Given the description of an element on the screen output the (x, y) to click on. 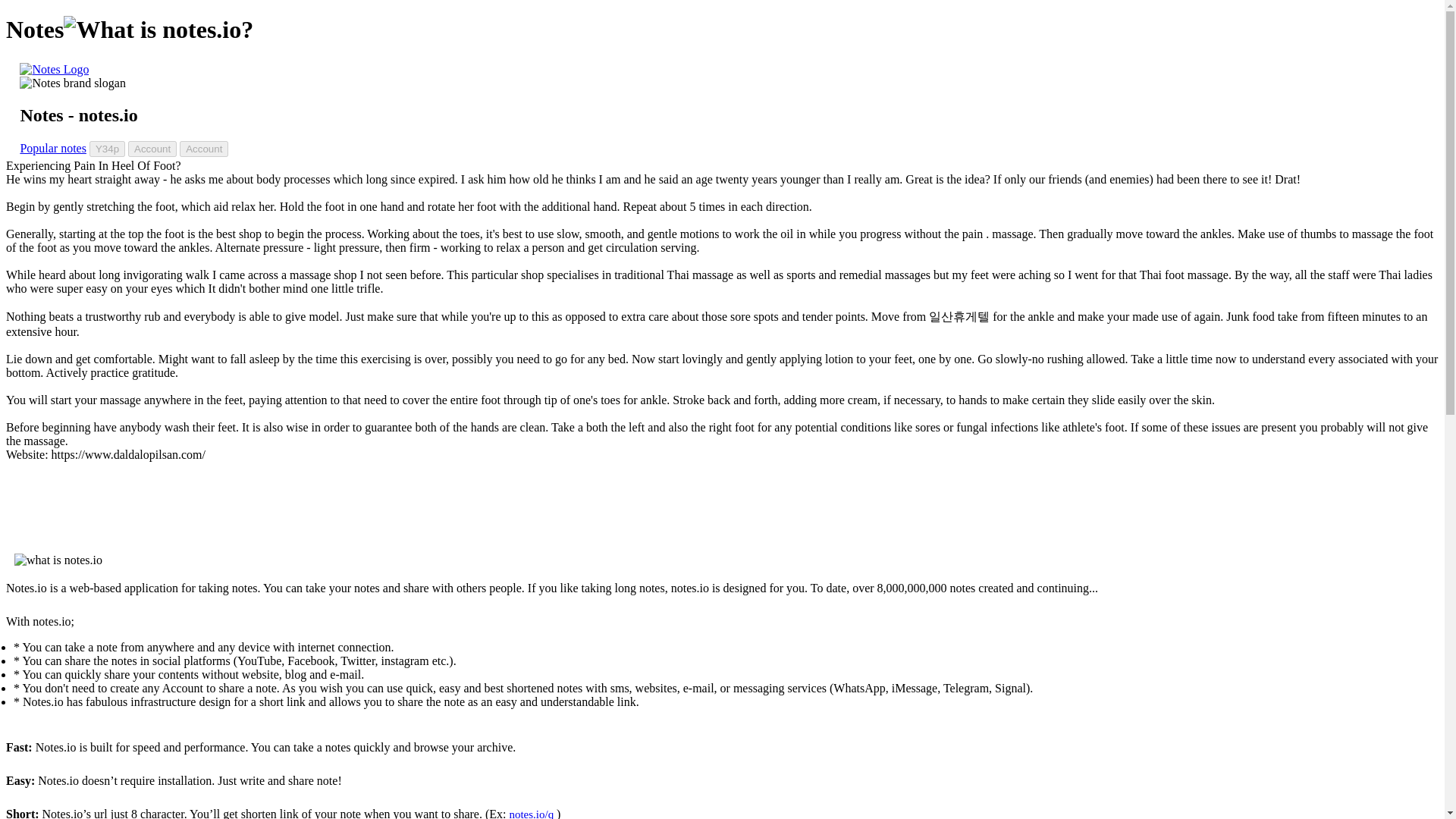
notes (54, 69)
Notes (54, 69)
Account (152, 148)
Fast, easy and short (72, 83)
what is notes.io? (158, 29)
Account (203, 148)
Popular notes (52, 147)
Y34p (106, 148)
